Given the description of an element on the screen output the (x, y) to click on. 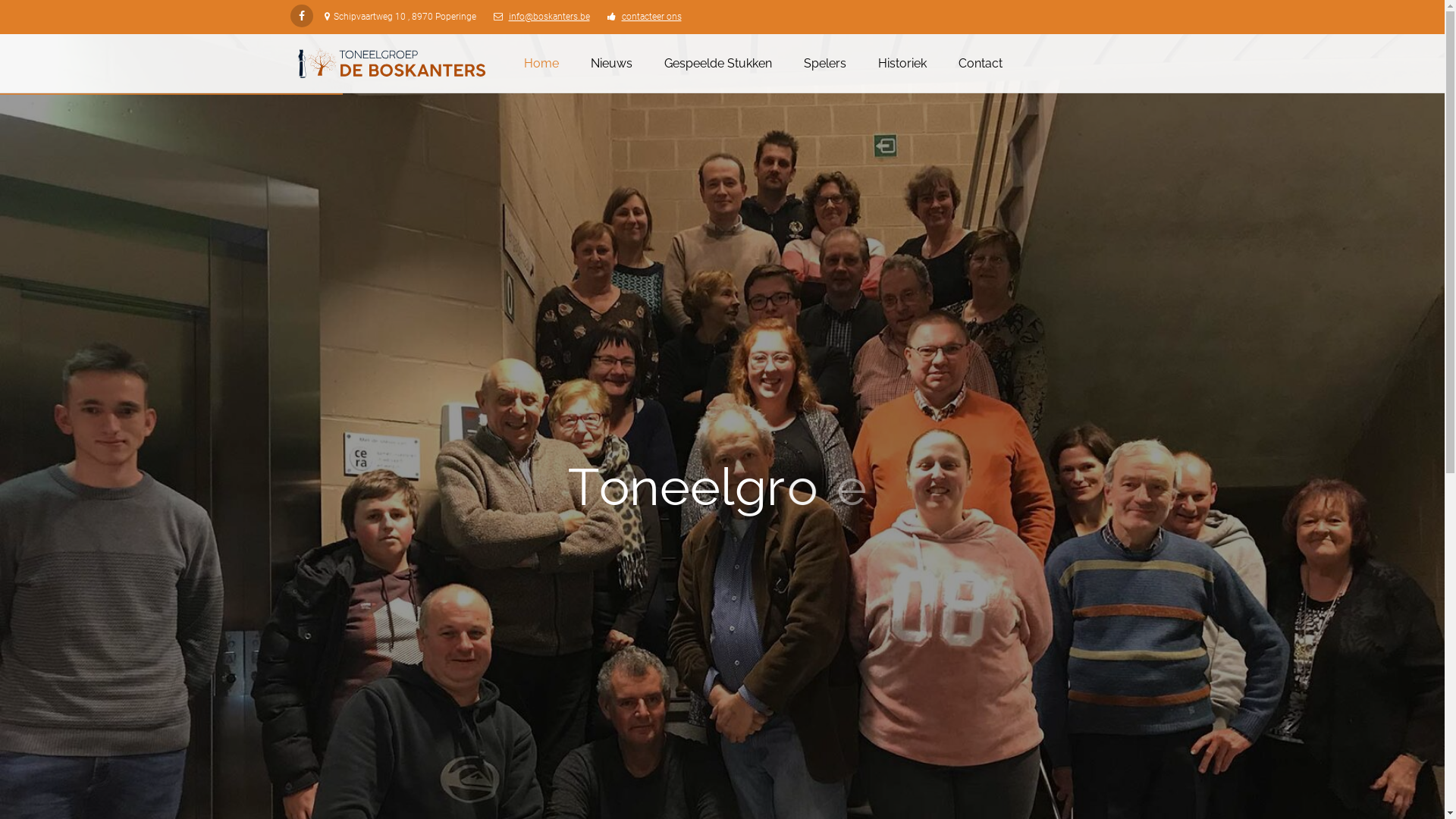
contacteer ons Element type: text (651, 16)
Spelers Element type: text (824, 63)
Contact Element type: text (980, 63)
Nieuws Element type: text (611, 63)
info@boskanters.be Element type: text (548, 16)
Gespeelde Stukken Element type: text (718, 63)
Home Element type: text (541, 63)
Historiek Element type: text (902, 63)
